Given the description of an element on the screen output the (x, y) to click on. 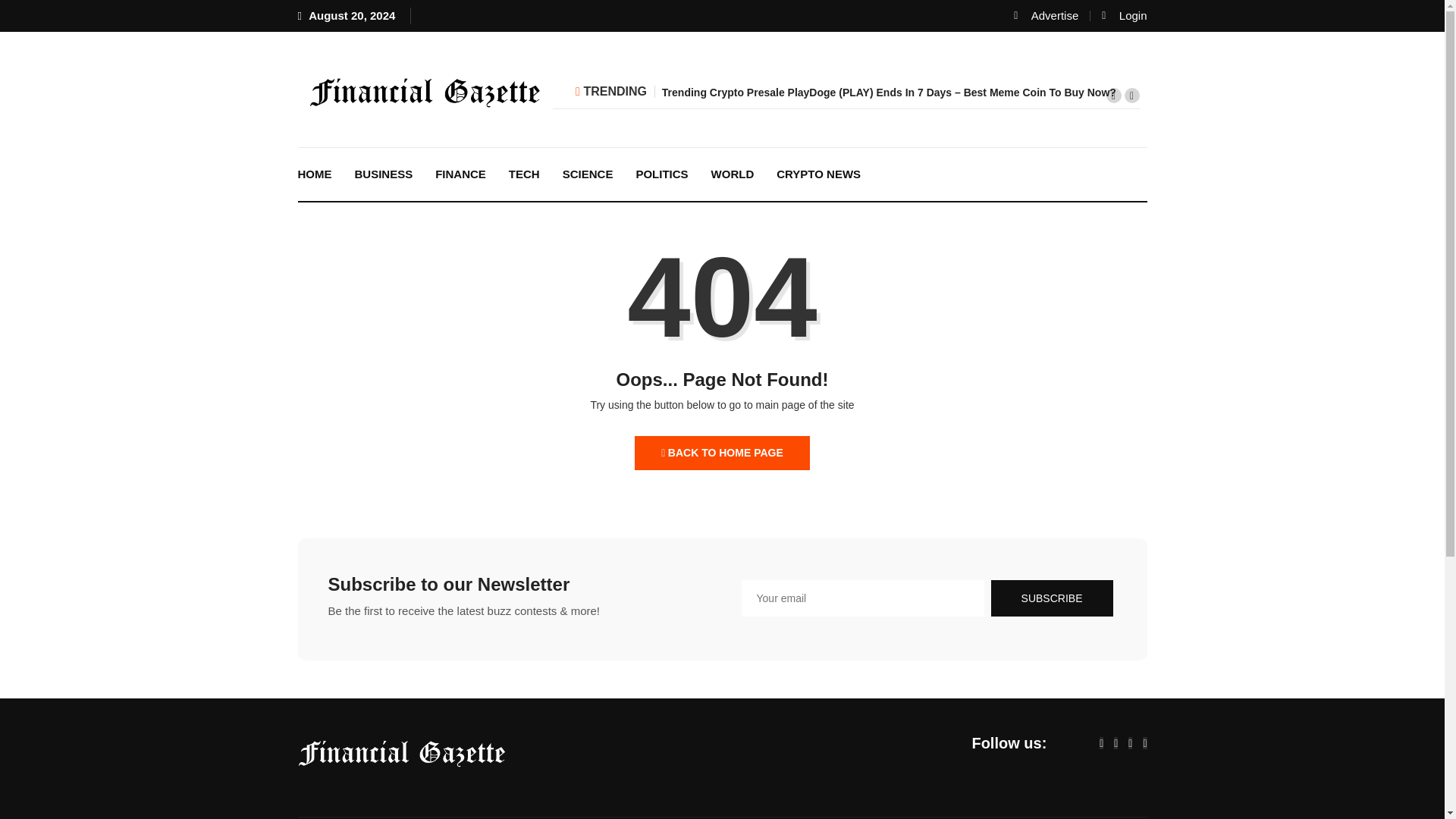
WORLD (732, 174)
BACK TO HOME PAGE (721, 452)
SCIENCE (587, 174)
CRYPTO NEWS (818, 174)
Subscribe (1052, 597)
Login (1124, 15)
POLITICS (661, 174)
BUSINESS (382, 174)
Advertise (1045, 15)
HOME (314, 174)
